Given the description of an element on the screen output the (x, y) to click on. 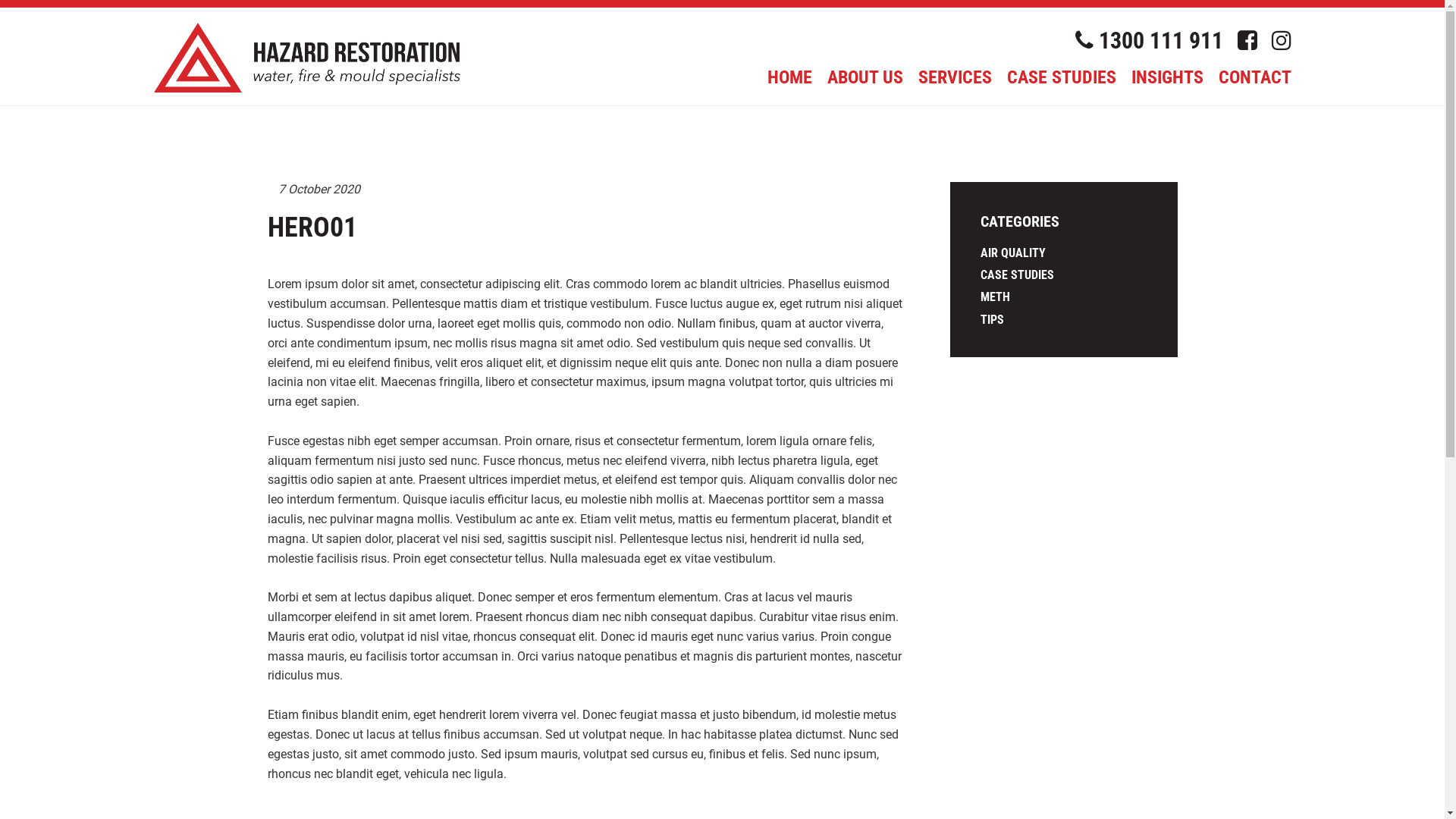
HOME Element type: text (789, 77)
TIPS Element type: text (991, 319)
1300 111 911 Element type: text (1149, 40)
CONTACT Element type: text (1253, 77)
AIR QUALITY Element type: text (1011, 252)
ABOUT US Element type: text (864, 77)
CASE STUDIES Element type: text (1016, 274)
CASE STUDIES Element type: text (1061, 77)
INSIGHTS Element type: text (1167, 77)
METH Element type: text (994, 296)
SERVICES Element type: text (954, 77)
